Given the description of an element on the screen output the (x, y) to click on. 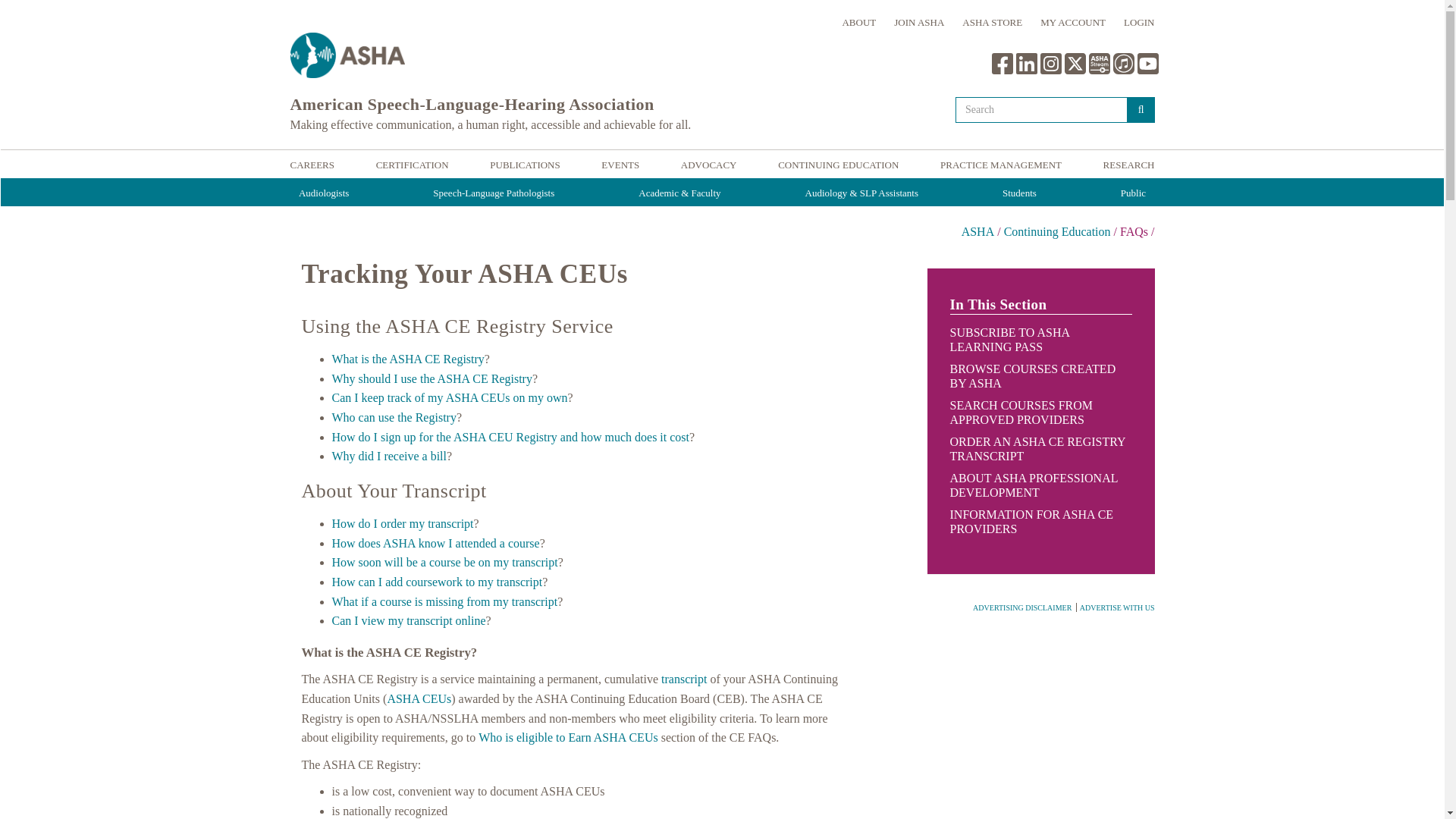
Why did I receive a bill (388, 455)
How do I order my transcript (402, 522)
ASHA STORE (992, 21)
Certification (411, 164)
Careers (311, 164)
Public (1133, 193)
How does ASHA know I attended a course (435, 543)
ABOUT (858, 21)
Advocacy (708, 164)
Speech-Language Pathologists (493, 193)
